Given the description of an element on the screen output the (x, y) to click on. 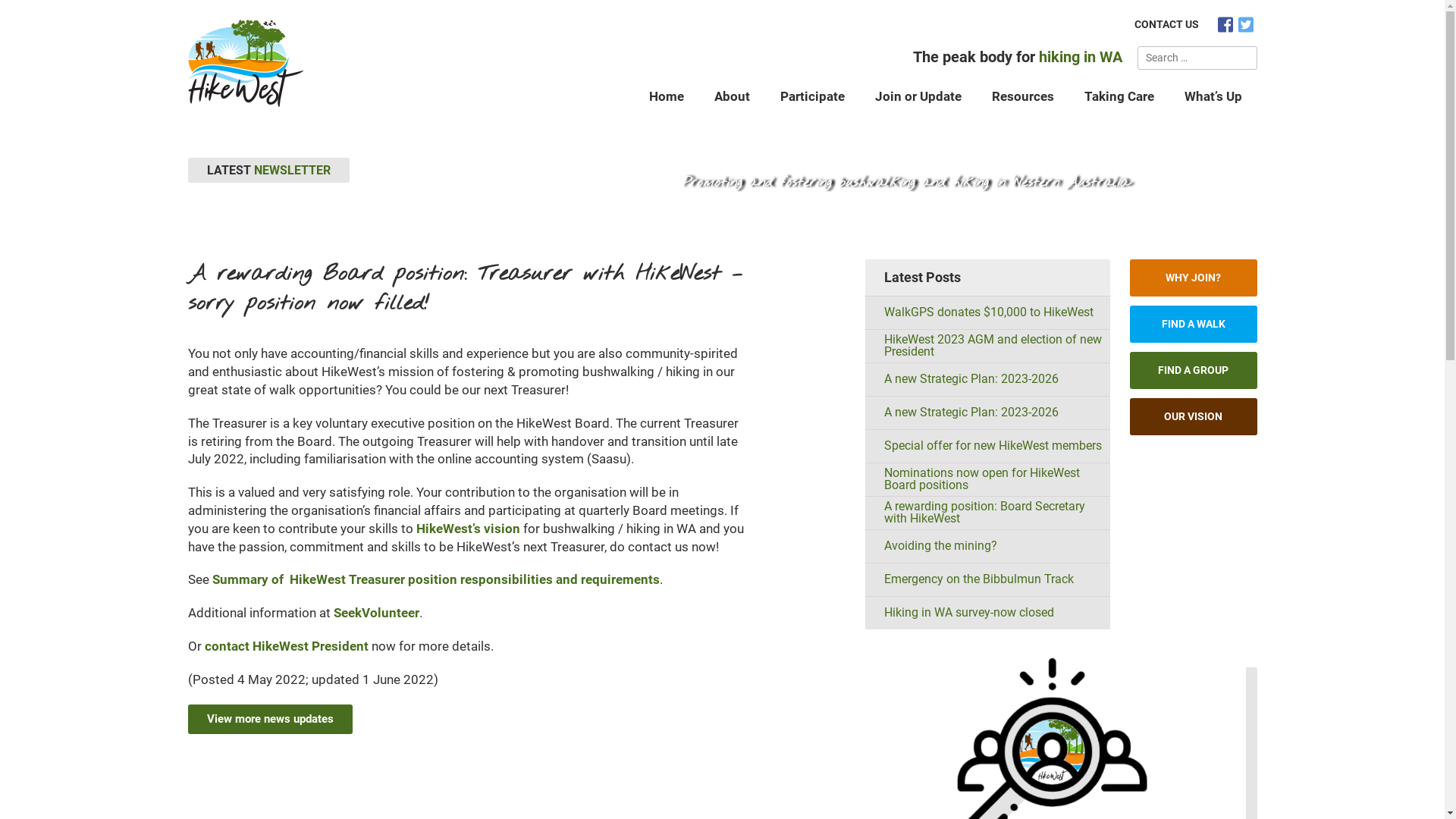
Taking Care Element type: text (1119, 95)
HikeWest Element type: text (705, 155)
Resources Element type: text (1022, 95)
Hiking in WA survey-now closed Element type: text (986, 612)
WHY JOIN? Element type: text (1193, 277)
About Element type: text (732, 95)
LATEST NEWSLETTER Element type: text (268, 169)
contact HikeWest President Element type: text (286, 645)
A rewarding position: Board Secretary with HikeWest Element type: text (986, 512)
A new Strategic Plan: 2023-2026 Element type: text (986, 412)
Special offer for new HikeWest members Element type: text (986, 445)
View more news updates Element type: text (270, 719)
Search Element type: text (1243, 56)
SeekVolunteer Element type: text (376, 612)
FIND A WALK Element type: text (1193, 323)
Nominations now open for HikeWest Board positions Element type: text (986, 478)
CONTACT US Element type: text (1166, 24)
HikeWest 2023 AGM and election of new President Element type: text (986, 345)
A new Strategic Plan: 2023-2026 Element type: text (986, 378)
Avoiding the mining? Element type: text (986, 545)
Join or Update Element type: text (917, 95)
Emergency on the Bibbulmun Track Element type: text (986, 579)
News Updates Element type: text (781, 155)
FIND A GROUP Element type: text (1193, 370)
Participate Element type: text (811, 95)
Home Element type: text (666, 95)
OUR VISION Element type: text (1193, 415)
WalkGPS donates $10,000 to HikeWest Element type: text (986, 312)
